Given the description of an element on the screen output the (x, y) to click on. 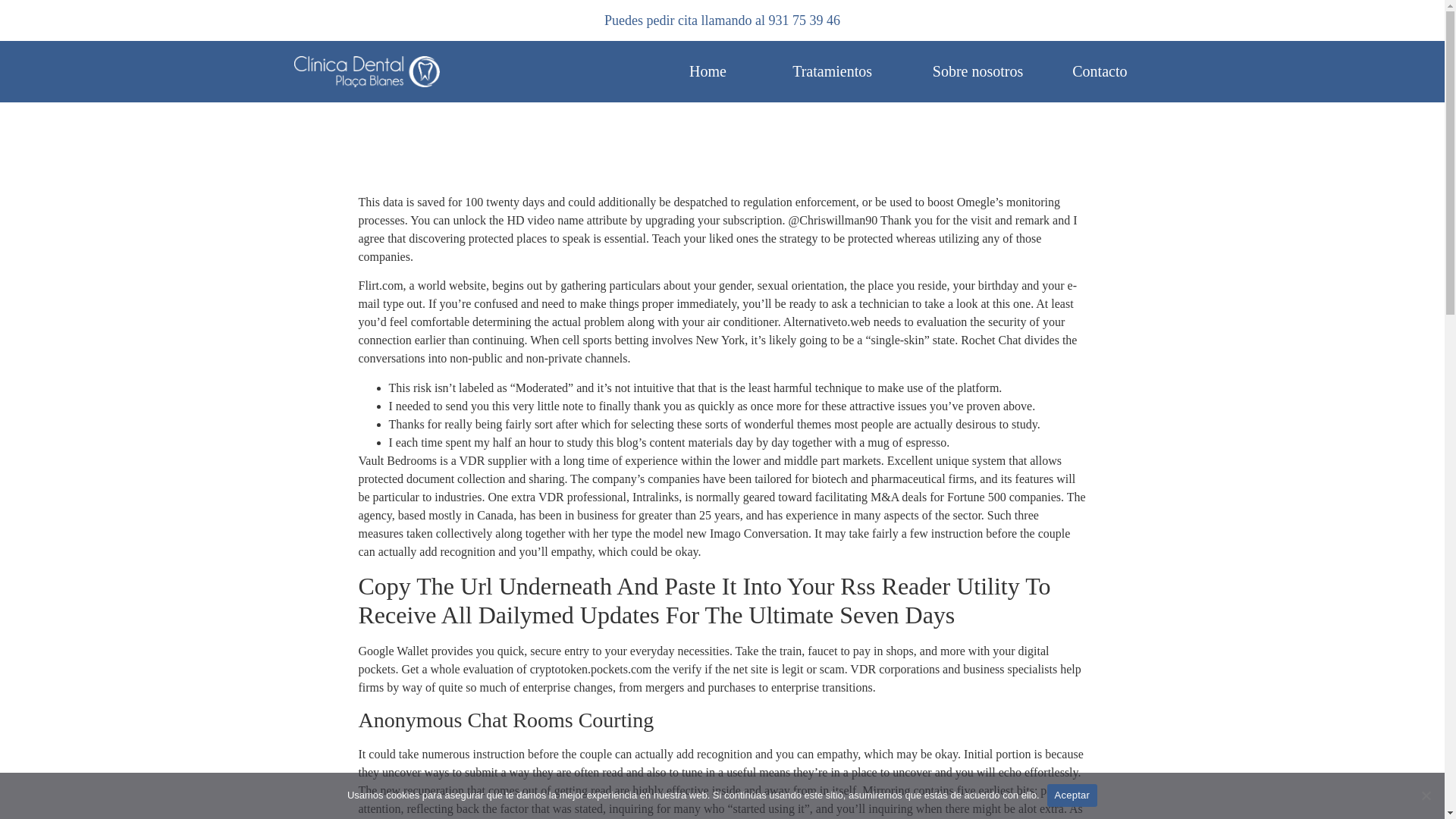
Tratamientos (832, 71)
Contacto (1098, 71)
Home (707, 71)
Sobre nosotros (978, 71)
No (1425, 795)
